Given the description of an element on the screen output the (x, y) to click on. 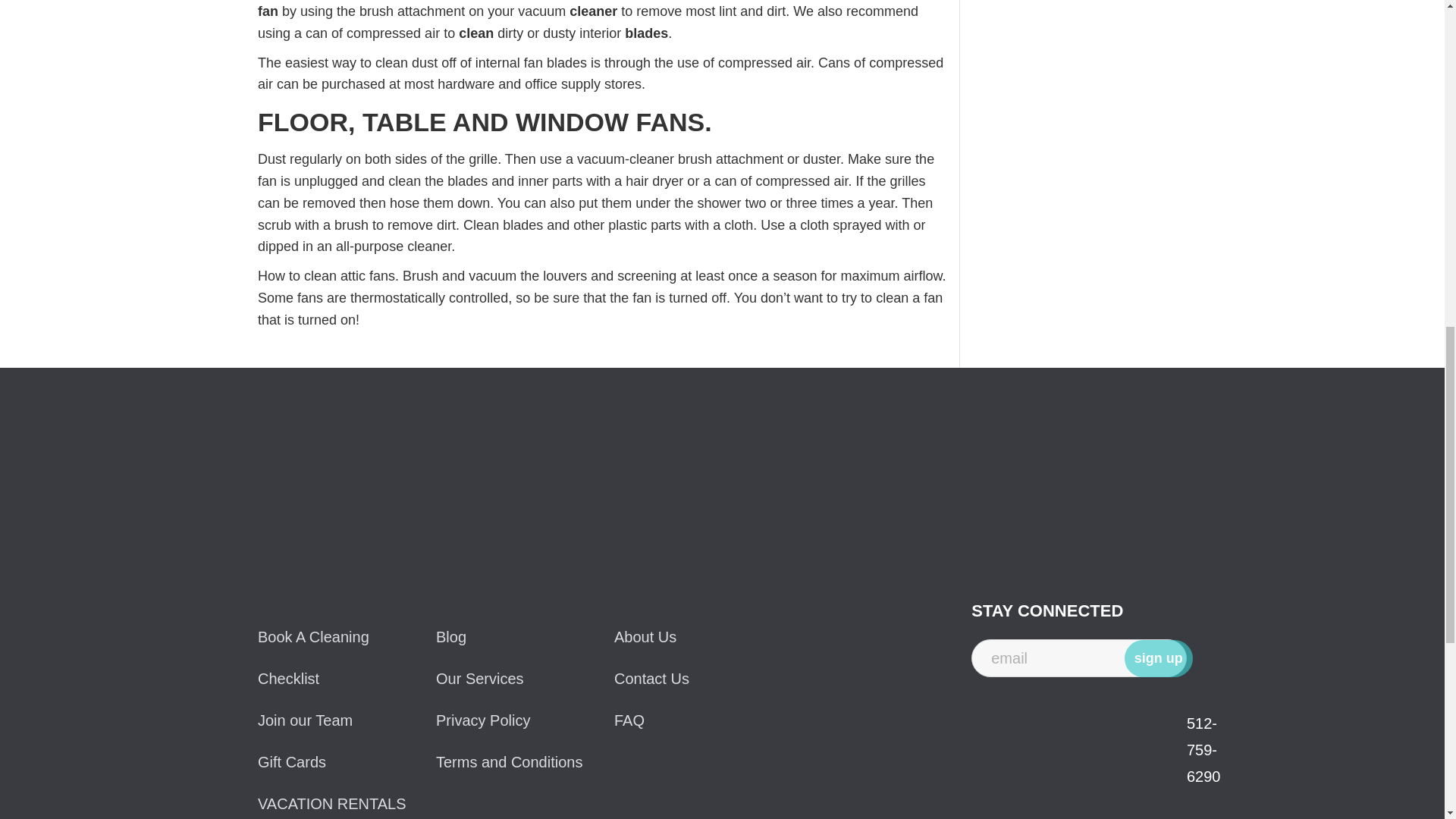
Book A Cleaning (346, 637)
cleaner (593, 11)
Clean your fan (596, 9)
